Given the description of an element on the screen output the (x, y) to click on. 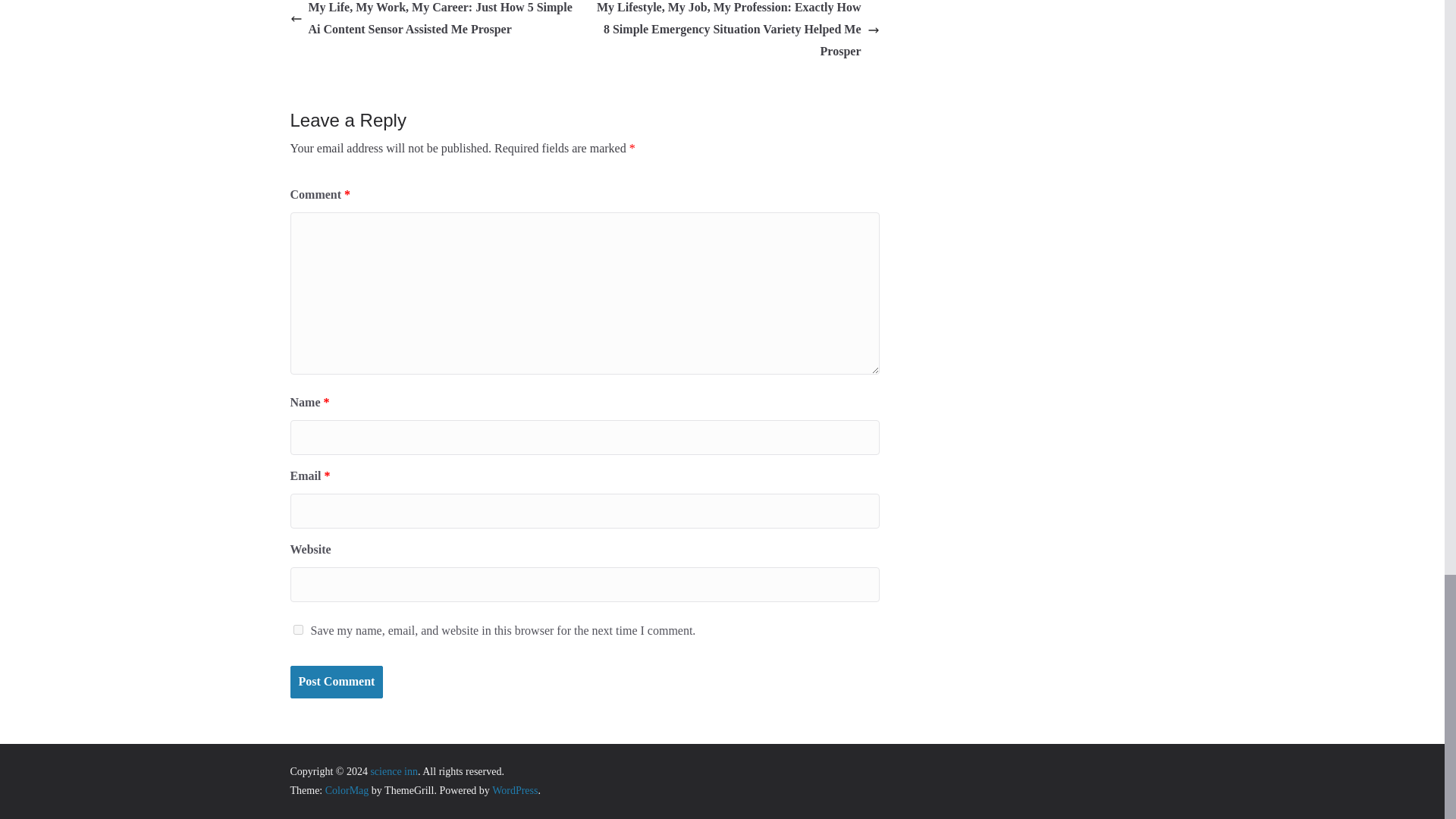
WordPress (514, 790)
science inn (393, 771)
WordPress (514, 790)
Post Comment (335, 681)
ColorMag (346, 790)
ColorMag (346, 790)
Post Comment (335, 681)
science inn (393, 771)
yes (297, 629)
